Given the description of an element on the screen output the (x, y) to click on. 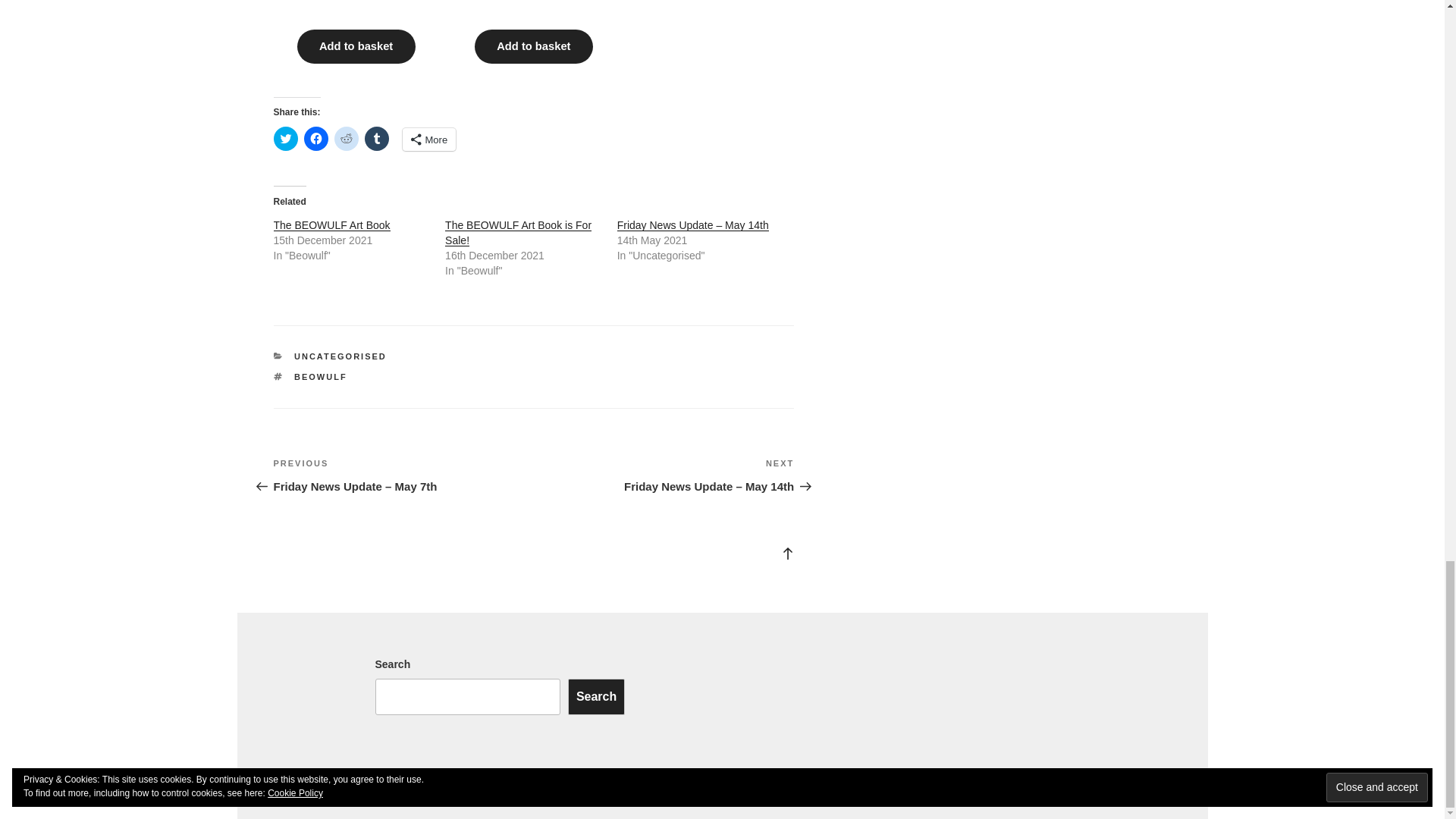
Click to share on Twitter (285, 138)
Click to share on Facebook (314, 138)
Click to share on Tumblr (376, 138)
Click to share on Reddit (345, 138)
The BEOWULF Art Book (331, 224)
The BEOWULF Art Book is For Sale! (518, 232)
